Given the description of an element on the screen output the (x, y) to click on. 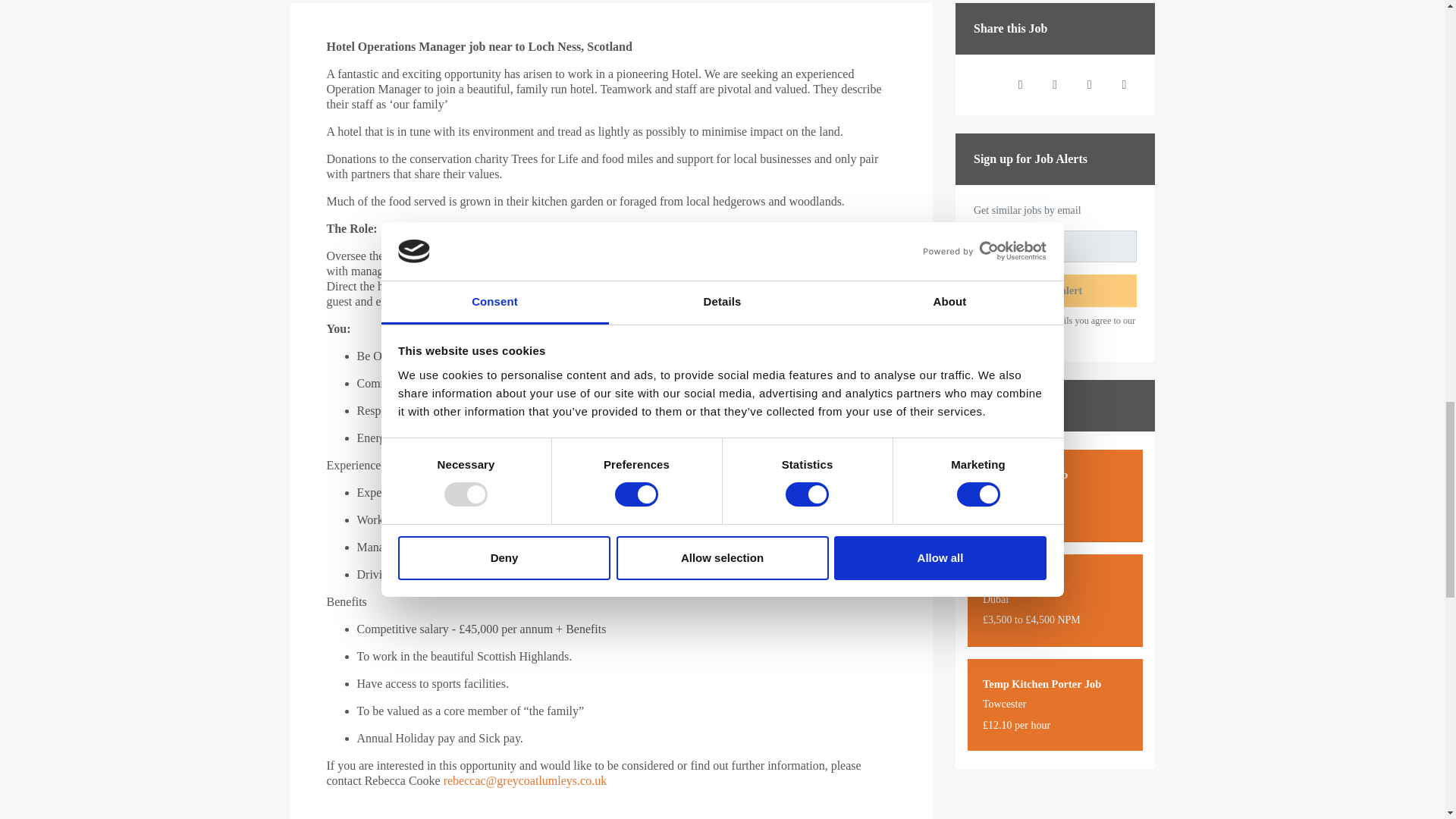
LinkedIn (1054, 84)
Email (1123, 84)
WhatsApp (1089, 84)
Facebook (1020, 84)
Twitter (986, 84)
